Given the description of an element on the screen output the (x, y) to click on. 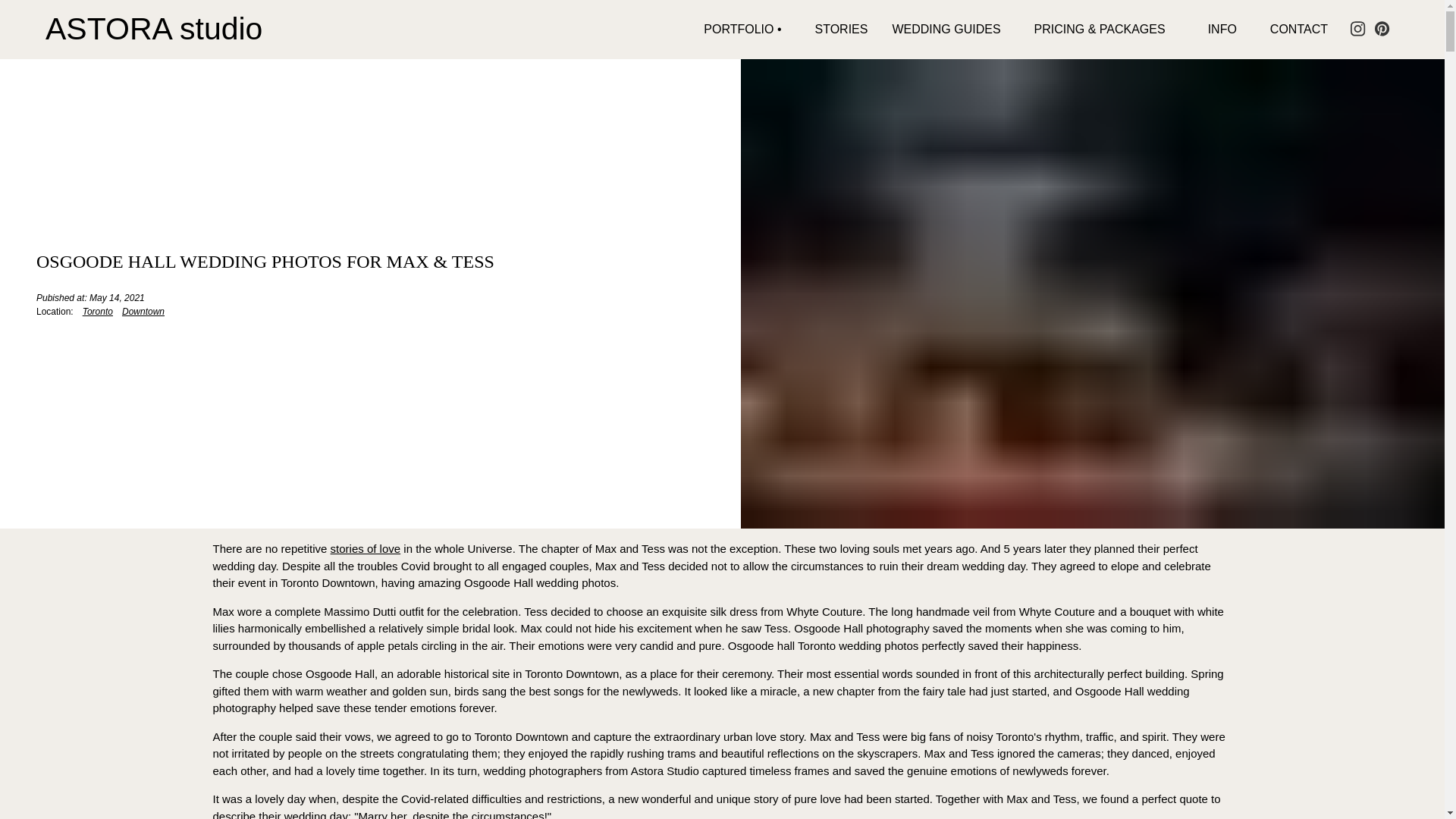
WEDDING GUIDES (945, 29)
Downtown (138, 311)
INFO (1222, 29)
stories of love (365, 548)
CONTACT (1298, 29)
ASTORA studio (153, 29)
Toronto (93, 311)
STORIES (840, 29)
